Given the description of an element on the screen output the (x, y) to click on. 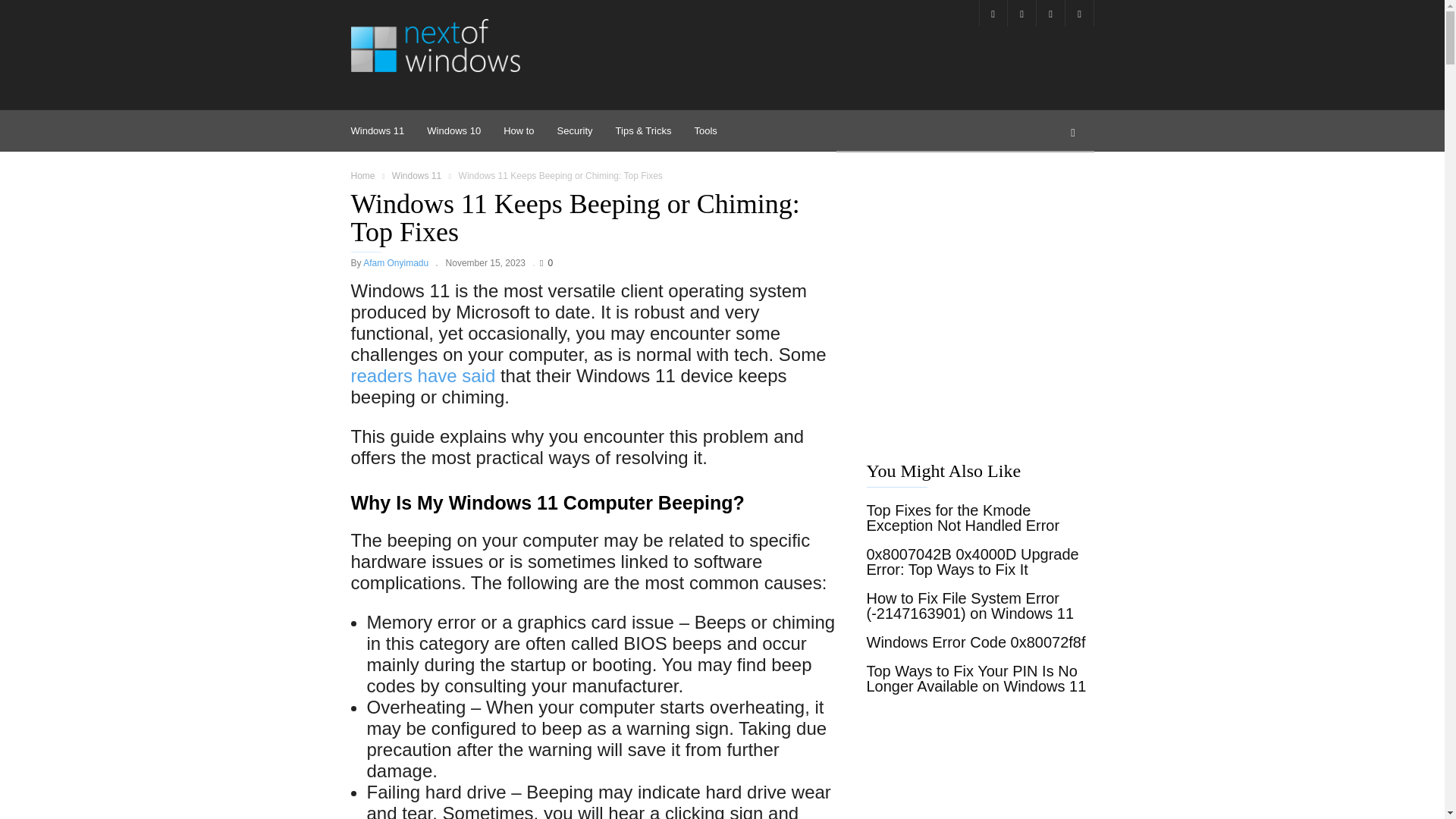
0 (546, 262)
Home (362, 175)
Facebook (992, 13)
Afam Onyimadu (395, 262)
View all posts in Windows 11 (417, 175)
Security (586, 130)
Twitter (1049, 13)
Youtube (1078, 13)
Windows 10 (464, 130)
RSS (1021, 13)
Tools (705, 130)
How to (529, 130)
readers have said (422, 375)
Next of Windows (434, 45)
Windows 11 (417, 175)
